Given the description of an element on the screen output the (x, y) to click on. 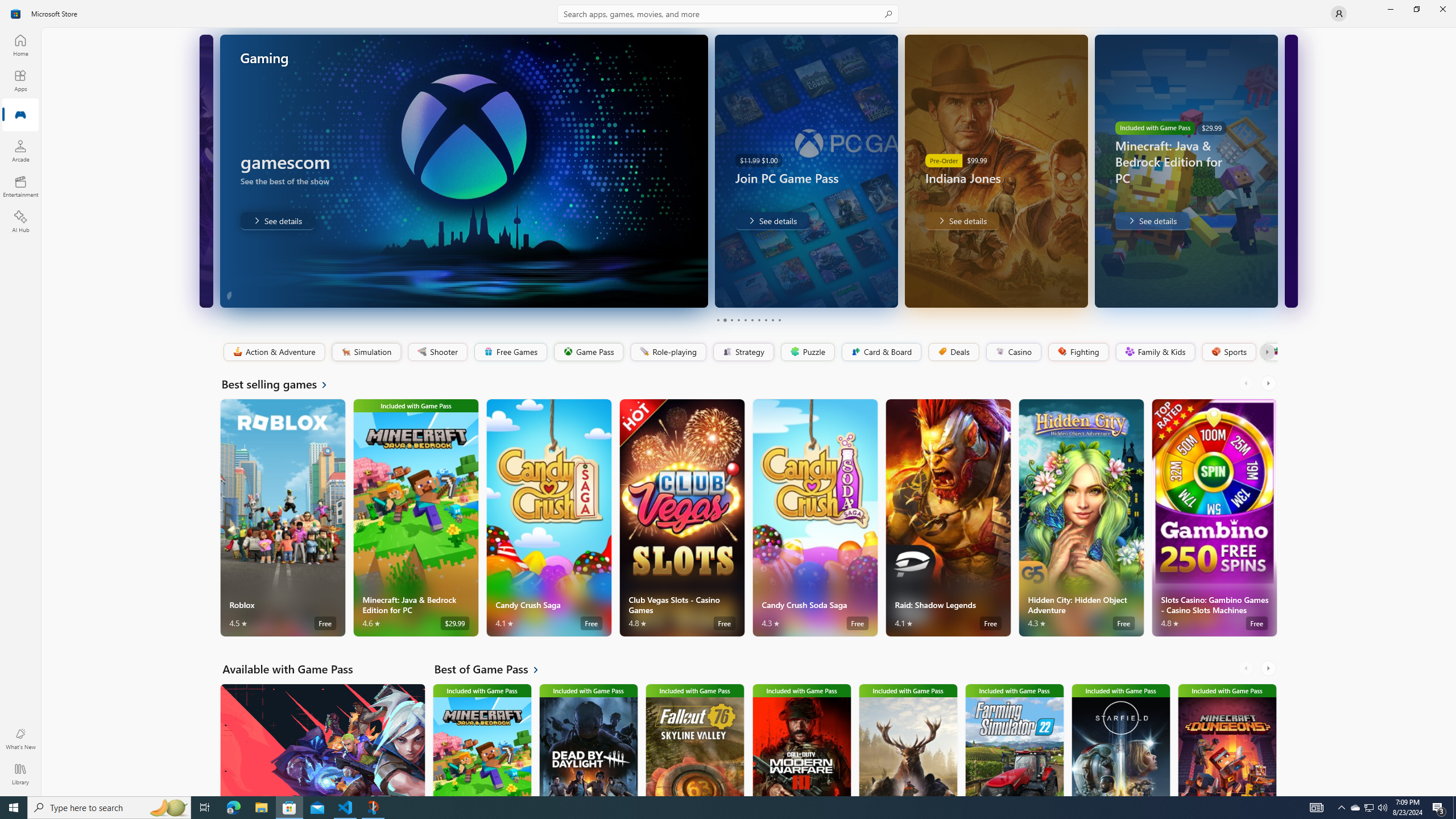
Page 7 (758, 319)
Gaming (20, 115)
gamescom. See the best of the show.  . See details (277, 221)
Class: Button (1266, 351)
Deals (952, 352)
Family & Kids (1154, 352)
Page 9 (772, 319)
Casino (1013, 352)
Entertainment (20, 185)
Page 2 (724, 319)
Page 4 (738, 319)
Search (727, 13)
